Given the description of an element on the screen output the (x, y) to click on. 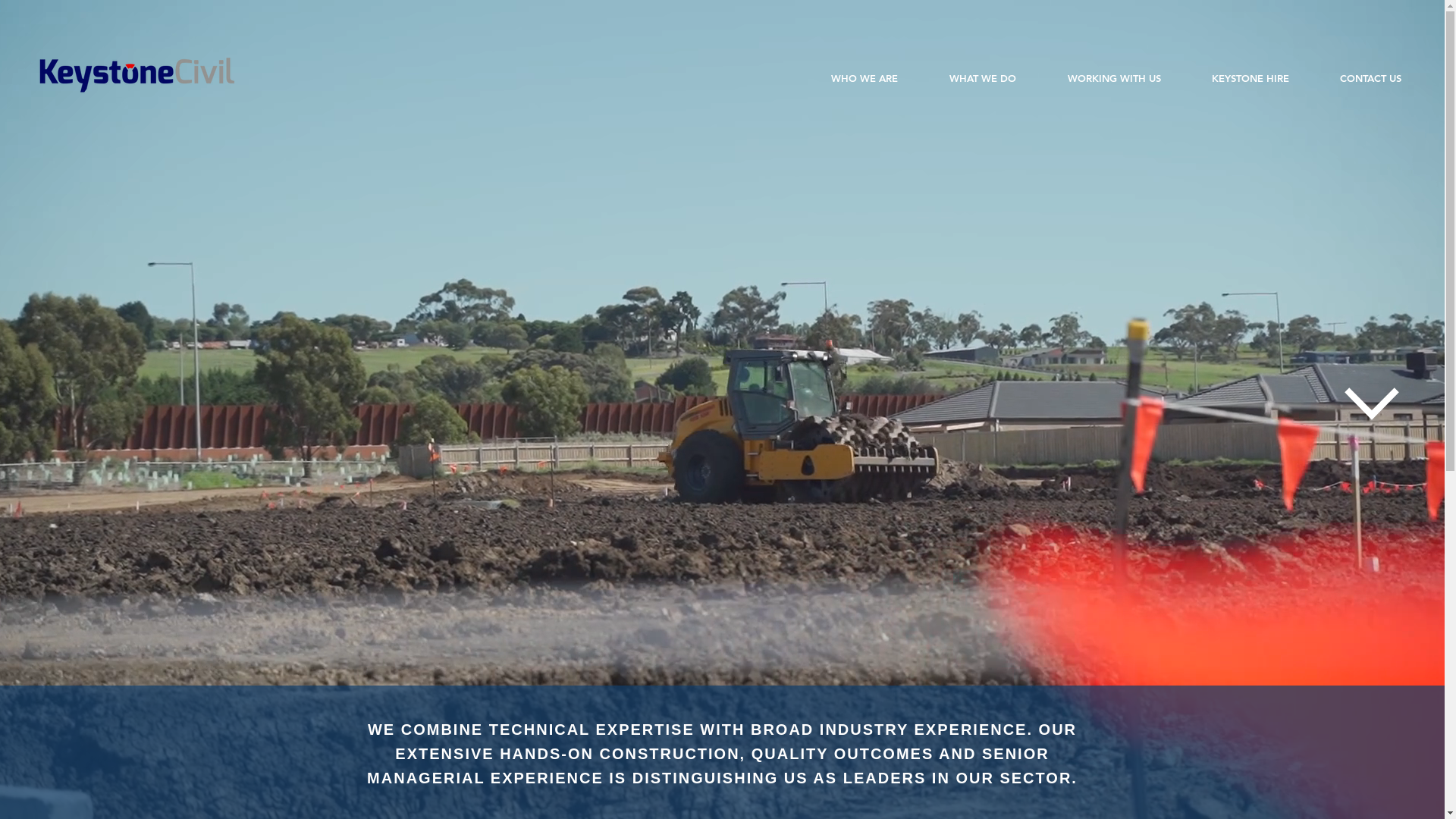
CONTACT US Element type: text (1370, 78)
WHAT WE DO Element type: text (982, 78)
WHO WE ARE Element type: text (864, 78)
WORKING WITH US Element type: text (1113, 78)
KEYSTONE HIRE Element type: text (1250, 78)
